Given the description of an element on the screen output the (x, y) to click on. 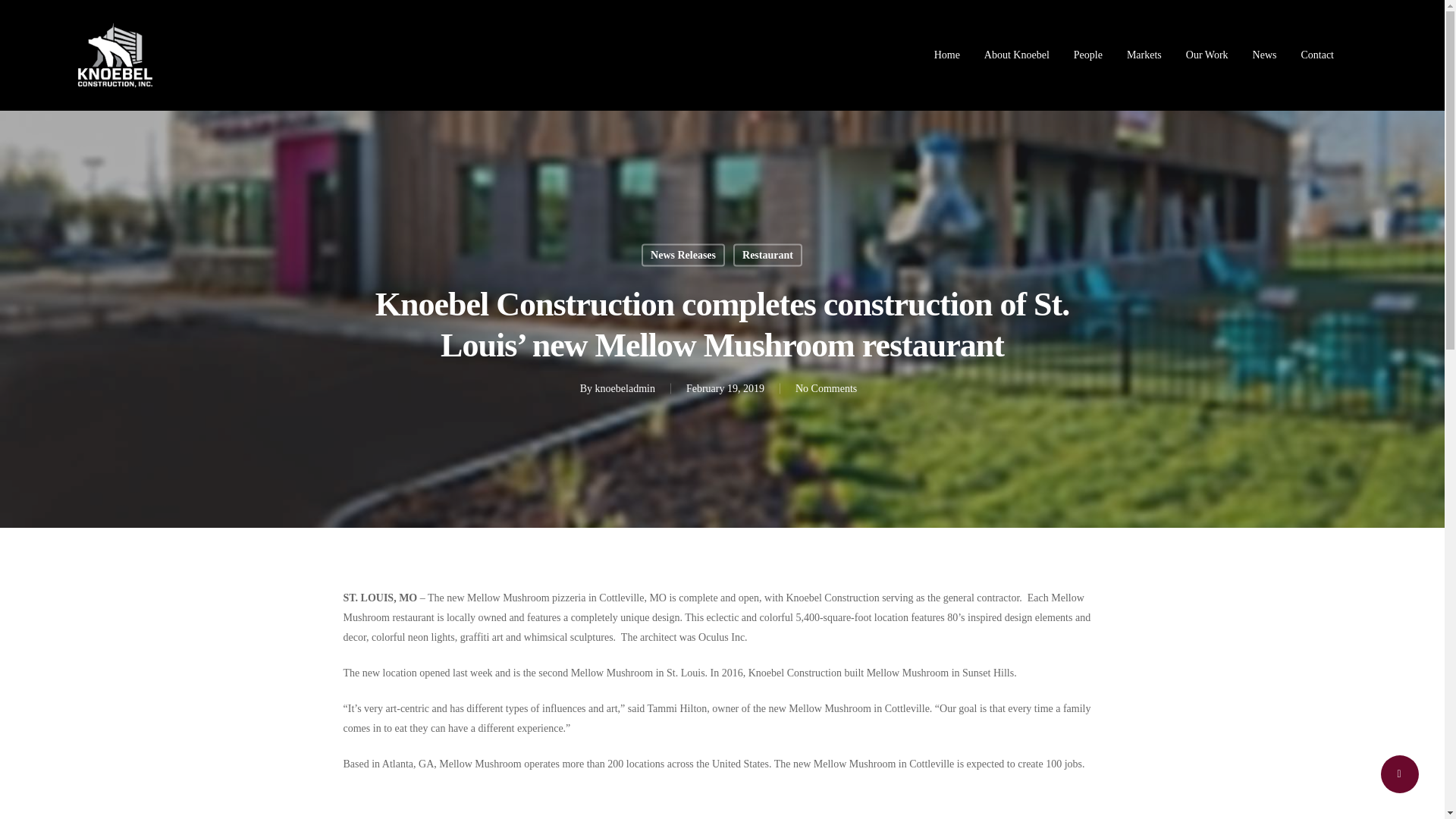
Contact (1316, 55)
Our Work (1206, 55)
No Comments (825, 387)
knoebeladmin (625, 387)
People (1088, 55)
News (1264, 55)
Markets (1144, 55)
News Releases (683, 255)
Posts by knoebeladmin (625, 387)
Restaurant (767, 255)
Home (946, 55)
About Knoebel (1016, 55)
